Given the description of an element on the screen output the (x, y) to click on. 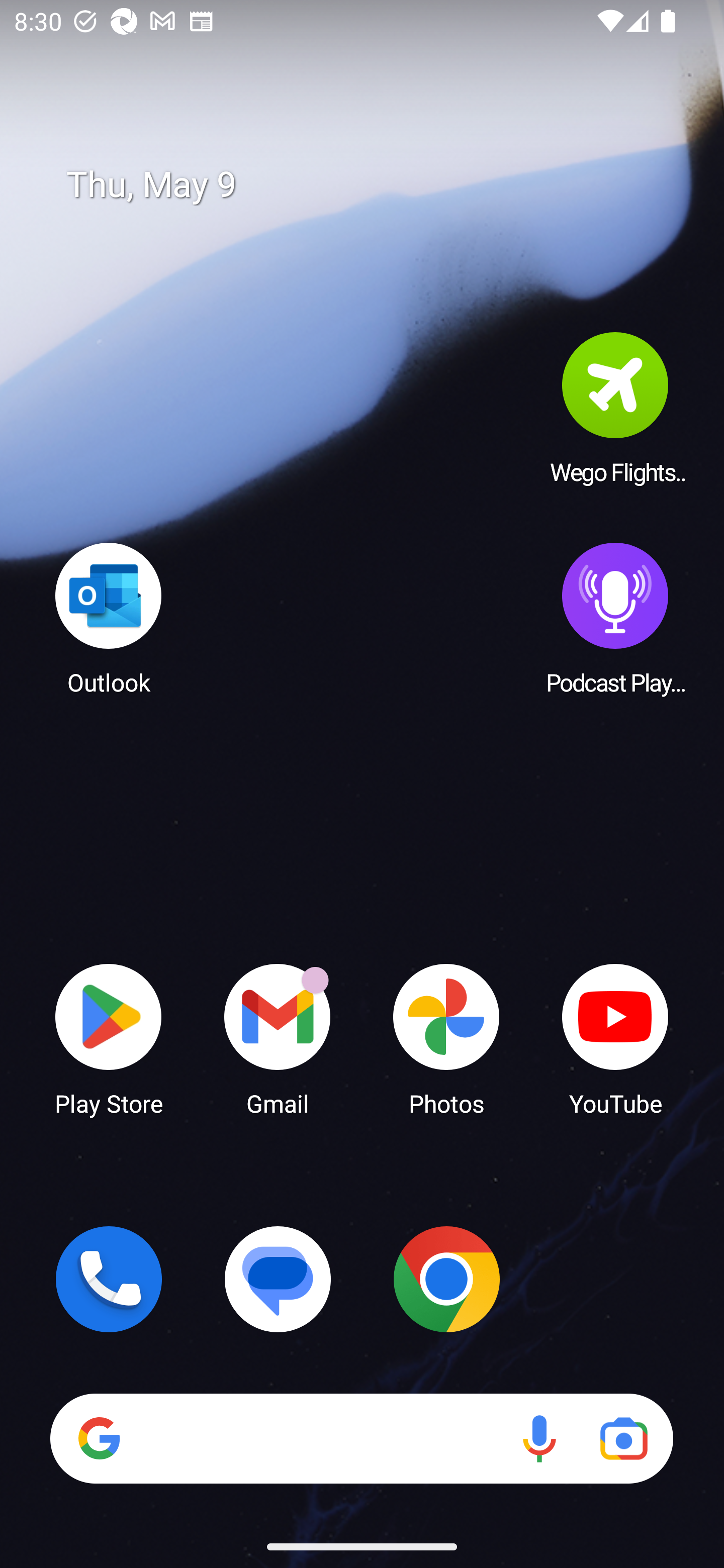
Thu, May 9 (375, 184)
Wego Flights & Hotels (615, 407)
Outlook (108, 617)
Podcast Player (615, 617)
Play Store (108, 1038)
Gmail Gmail has 18 notifications (277, 1038)
Photos (445, 1038)
YouTube (615, 1038)
Phone (108, 1279)
Messages (277, 1279)
Chrome (446, 1279)
Search Voice search Google Lens (361, 1438)
Voice search (539, 1438)
Google Lens (623, 1438)
